Given the description of an element on the screen output the (x, y) to click on. 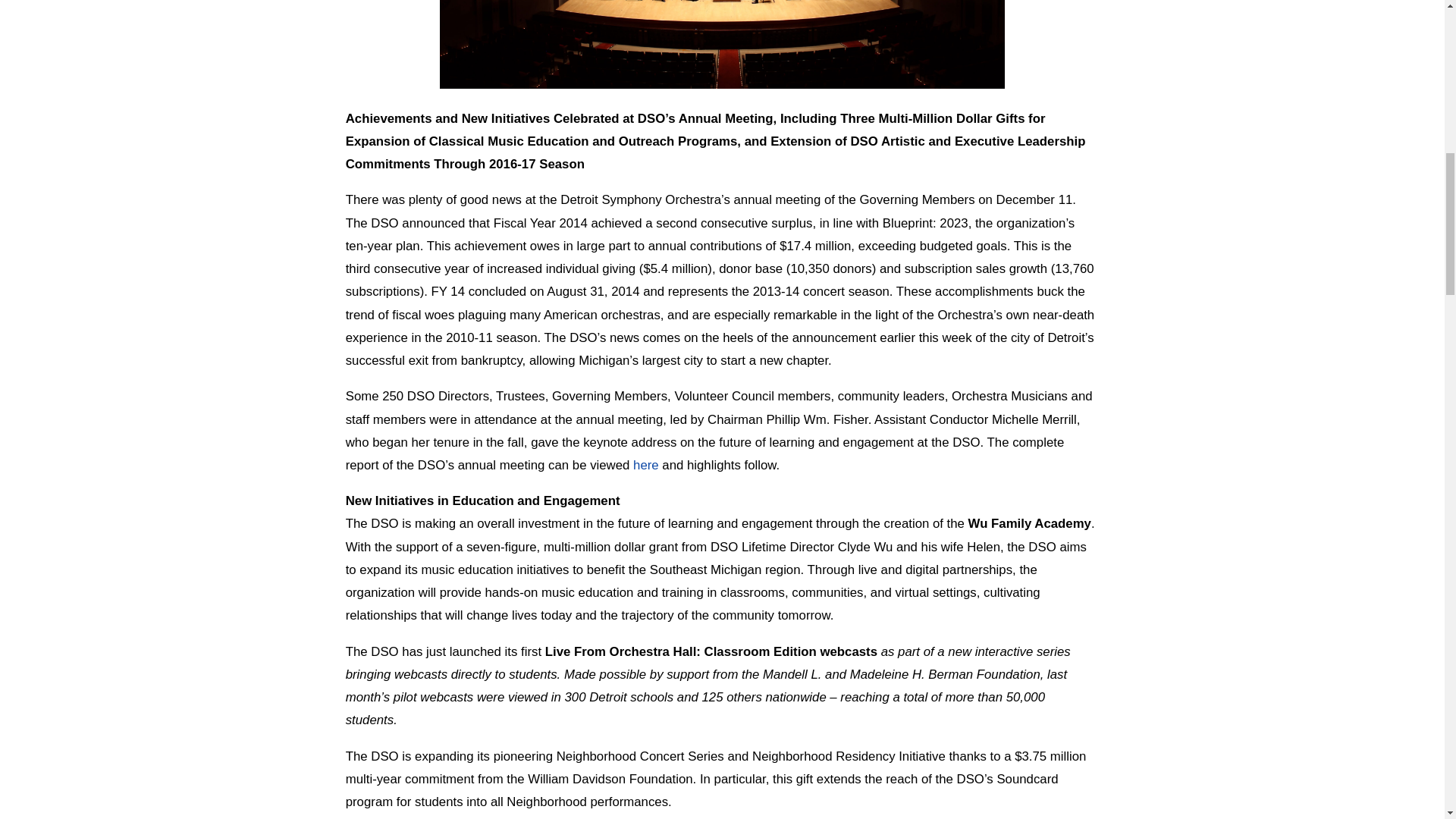
here (647, 464)
